Given the description of an element on the screen output the (x, y) to click on. 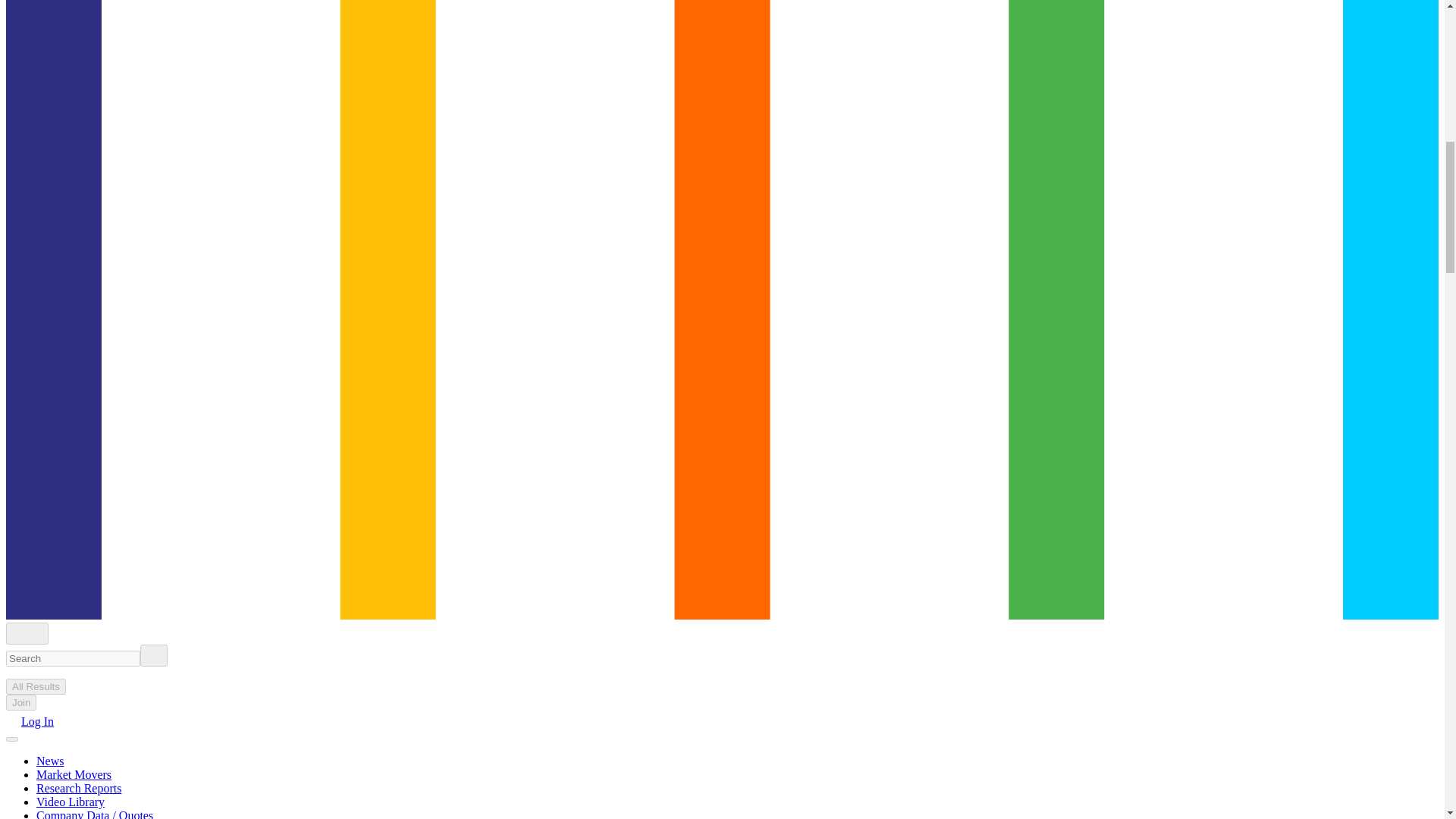
Market Movers (74, 774)
Log In (29, 721)
Research Reports (78, 788)
All Results (35, 686)
Video Library (70, 801)
News (50, 760)
Join (20, 702)
